Given the description of an element on the screen output the (x, y) to click on. 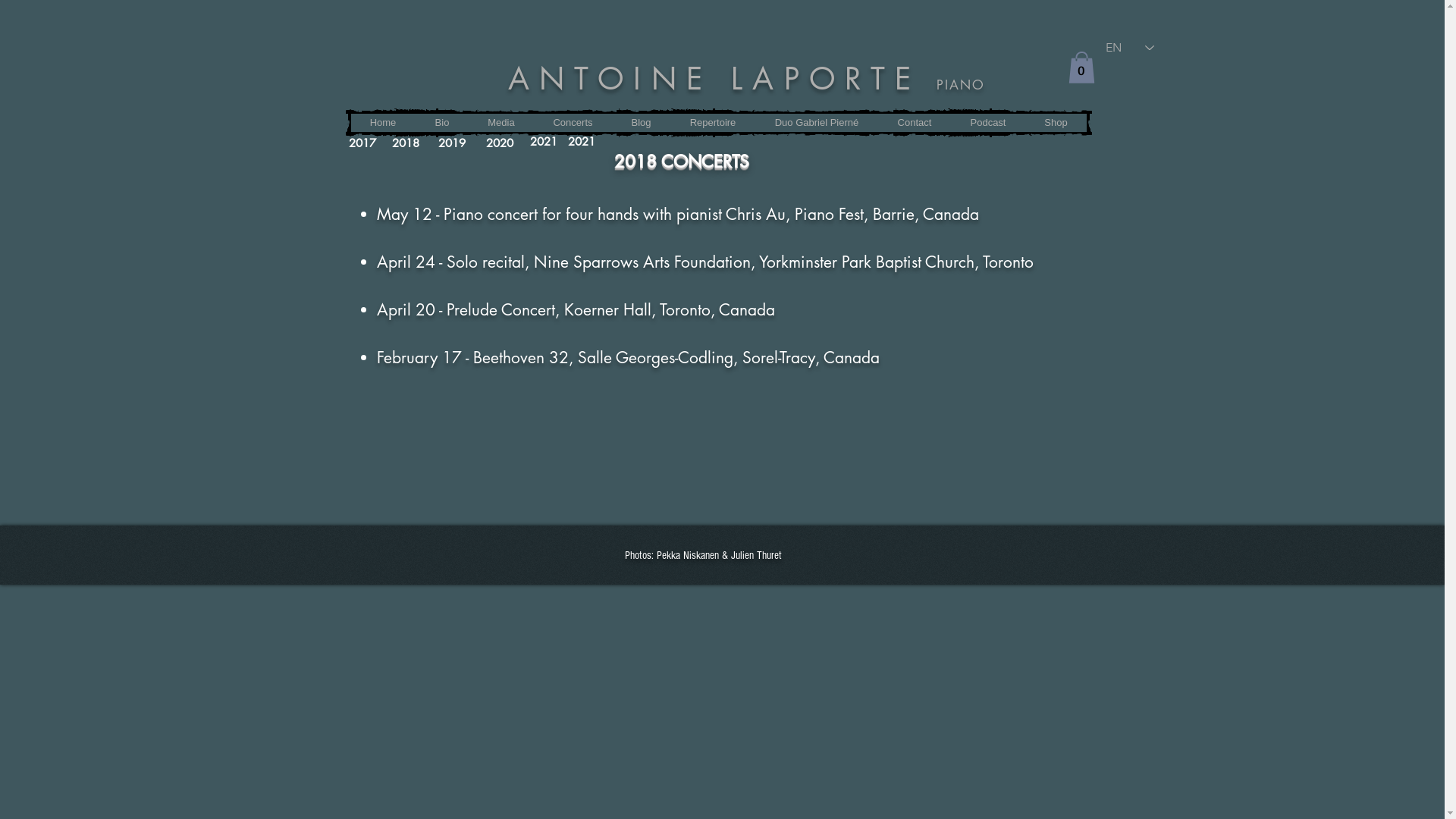
Blog Element type: text (640, 122)
Bio Element type: text (441, 122)
Concerts Element type: text (572, 122)
Repertoire Element type: text (719, 122)
Concerts Element type: text (582, 122)
2018 Element type: text (404, 142)
Repertoire Element type: text (712, 122)
Podcast Element type: text (989, 122)
2017 Element type: text (362, 142)
Photos: Pekka Niskanen & Julien Thuret Element type: text (702, 554)
Home Element type: text (394, 122)
Shop Element type: text (1056, 122)
Podcast Element type: text (987, 122)
0 Element type: text (1080, 67)
Contact Element type: text (914, 122)
Contact Element type: text (917, 122)
Shop Element type: text (1055, 122)
2019 Element type: text (451, 142)
Bio Element type: text (453, 122)
2021 Element type: text (580, 140)
2021 Element type: text (542, 140)
Blog Element type: text (648, 122)
Home Element type: text (382, 122)
2020 Element type: text (498, 142)
